Given the description of an element on the screen output the (x, y) to click on. 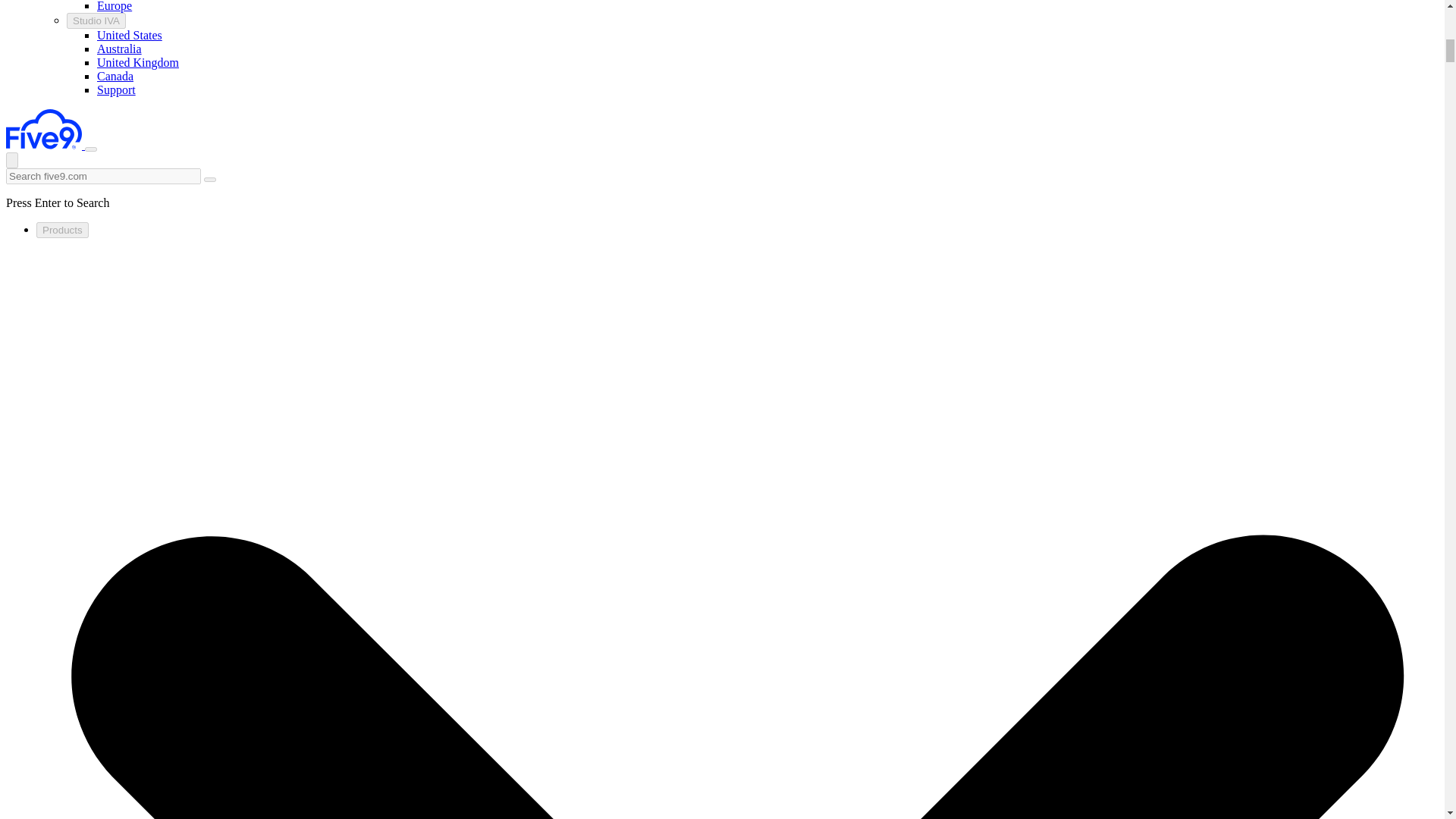
Australia (119, 48)
Support (116, 89)
Europe (114, 6)
Enter the terms you wish to search for. (102, 176)
United Kingdom (138, 62)
Search (209, 170)
Canada (115, 75)
Search (209, 170)
United States (129, 34)
Products (62, 229)
